Given the description of an element on the screen output the (x, y) to click on. 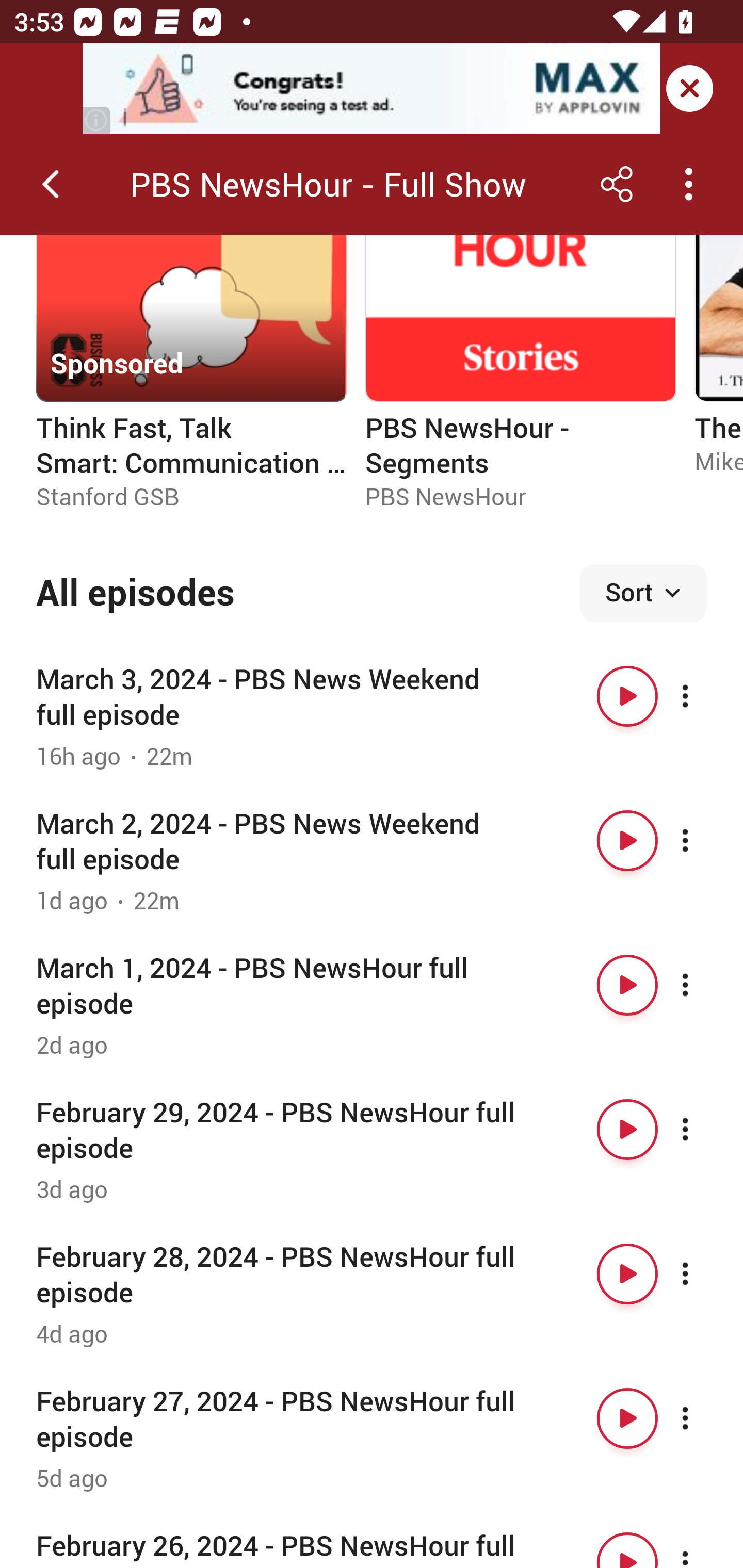
app-monetization (371, 88)
(i) (96, 119)
Back (50, 184)
Sort episodes Sort (643, 593)
Play button (627, 695)
More options (703, 695)
Play button (627, 841)
More options (703, 841)
Play button (627, 985)
More options (703, 985)
Play button (627, 1129)
More options (703, 1129)
Play button (627, 1273)
More options (703, 1273)
Play button (627, 1418)
More options (703, 1418)
Play button (627, 1545)
More options (703, 1545)
